Given the description of an element on the screen output the (x, y) to click on. 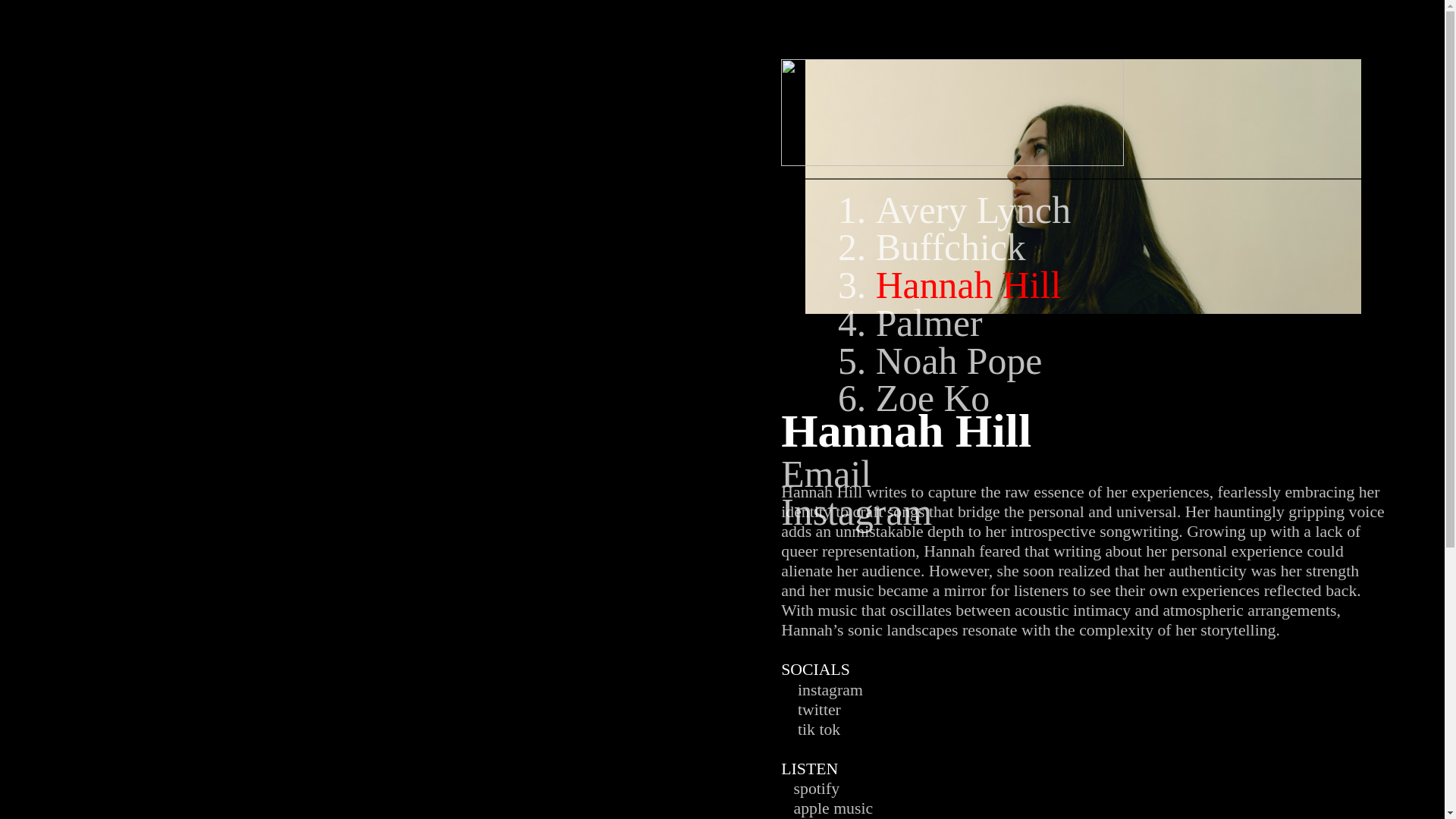
Hannah Hill (968, 285)
Palmer (929, 322)
Email (825, 474)
spotify (816, 788)
instagram (830, 689)
twitter (819, 710)
Avery Lynch (973, 209)
   apple music (826, 808)
Noah Pope (959, 361)
Zoe Ko (933, 398)
tik tok (817, 729)
Instagram (855, 512)
Buffchick (951, 247)
